Given the description of an element on the screen output the (x, y) to click on. 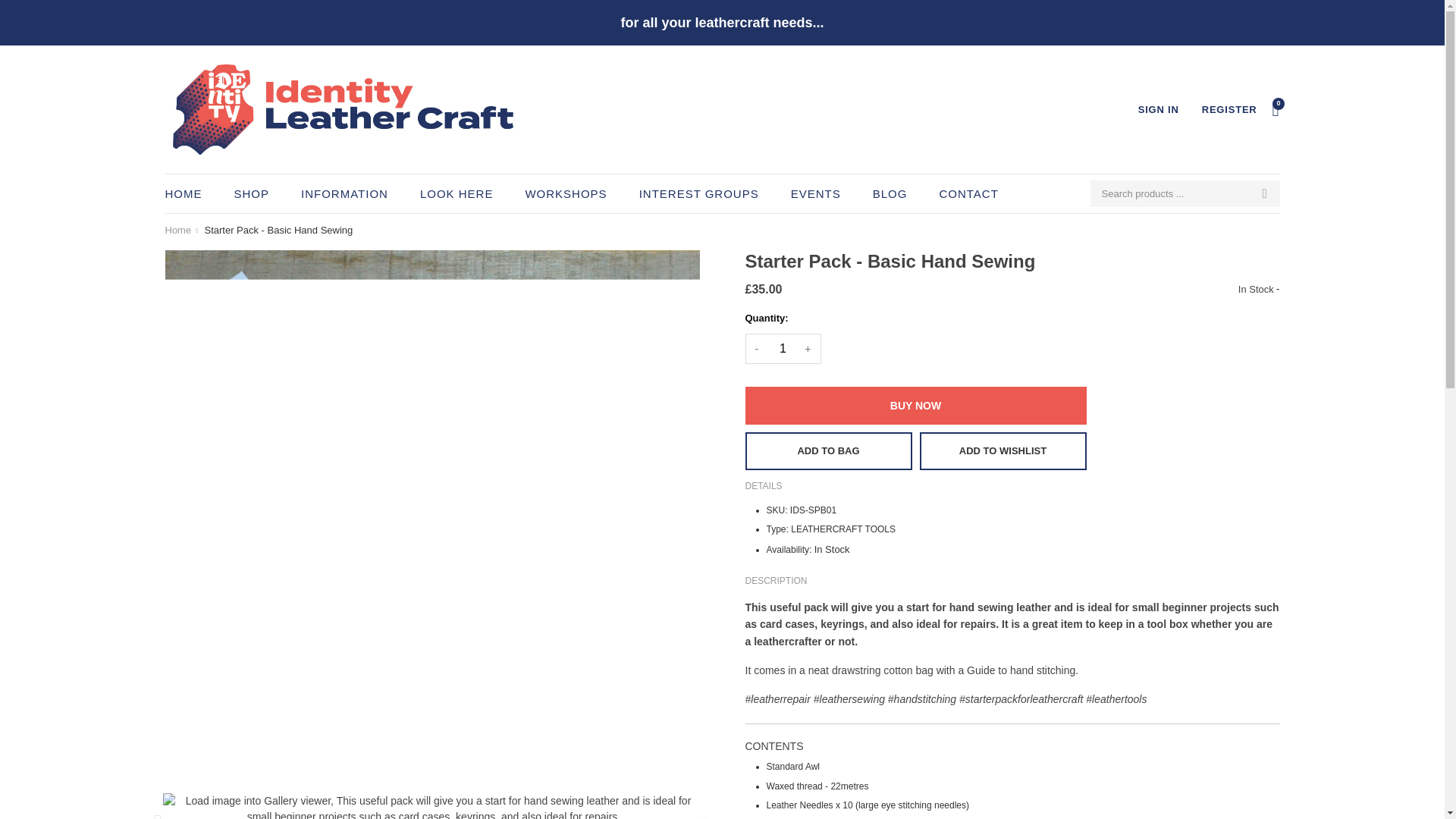
identityleathercraft (178, 230)
SIGN IN (1158, 109)
REGISTER (1229, 109)
0 (1275, 108)
Add to Wishlist (1002, 450)
Starter Pack - Basic Hand Sewing (277, 230)
HOME (189, 193)
SHOP (251, 193)
1 (782, 348)
